Given the description of an element on the screen output the (x, y) to click on. 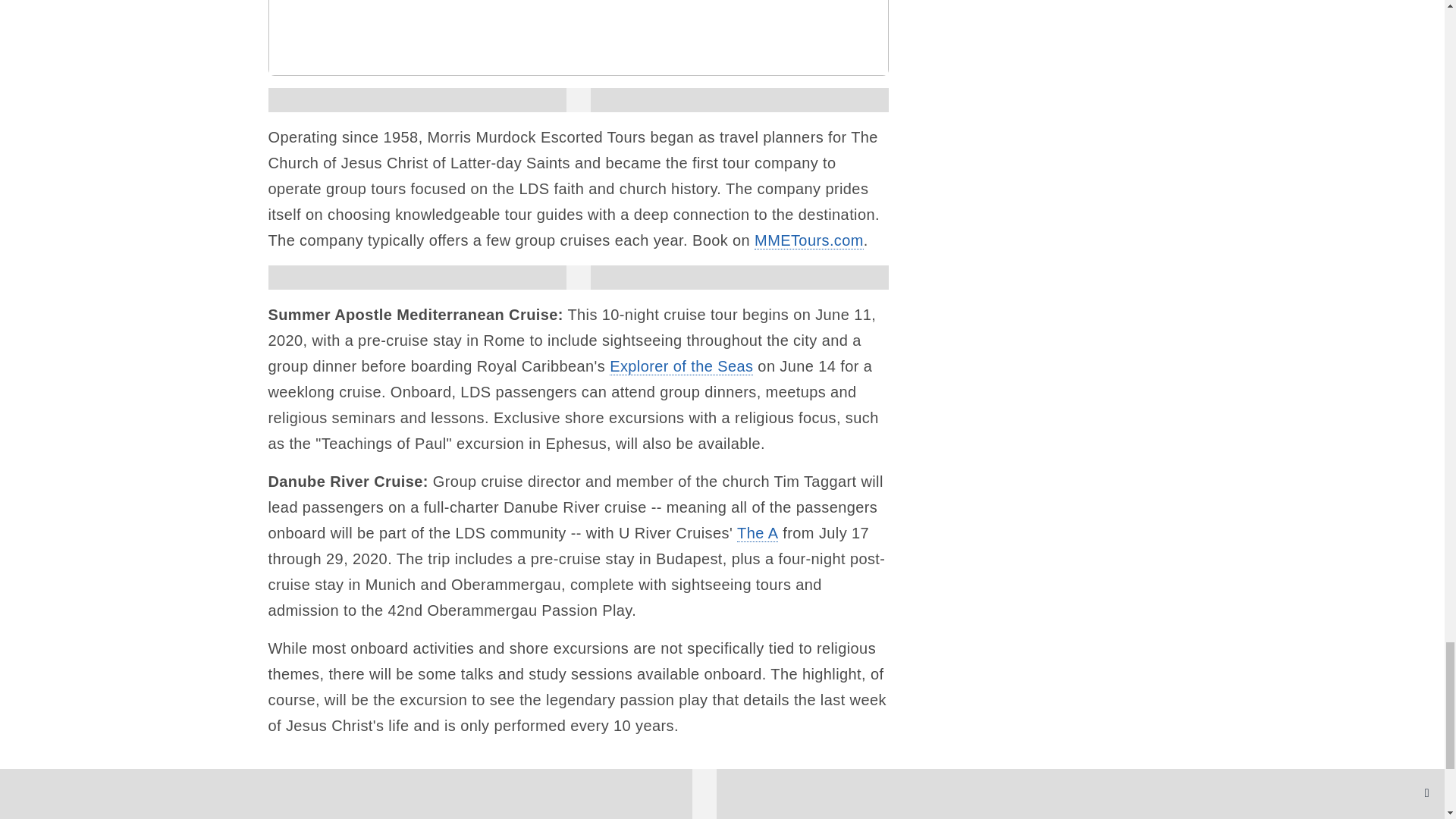
Explorer of the Seas (681, 366)
MMETours.com (808, 240)
The A (756, 533)
